Given the description of an element on the screen output the (x, y) to click on. 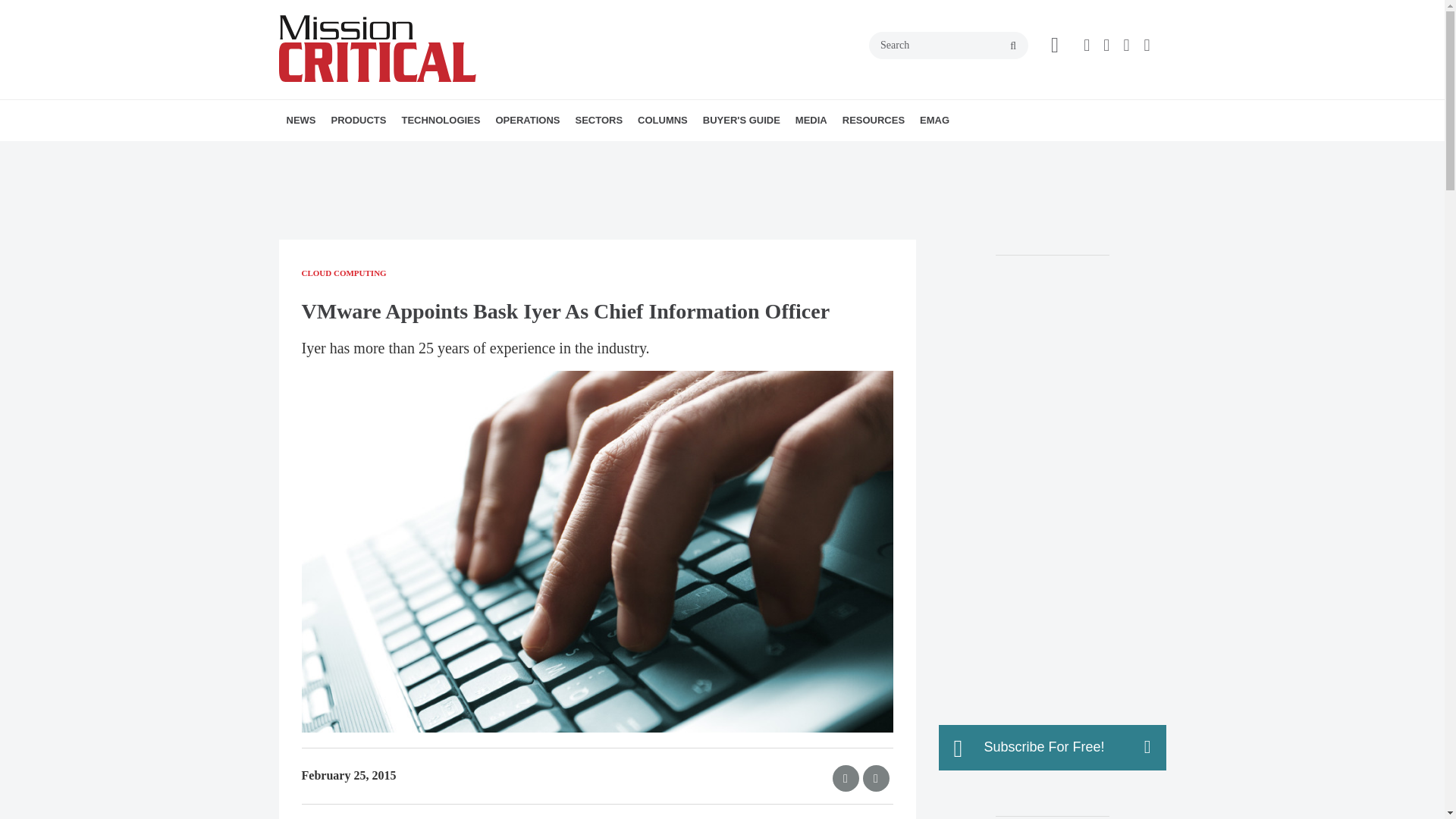
CABLING (525, 153)
NEW PRODUCTS (417, 153)
TECHNOLOGIES (440, 119)
MANAGEMENT (606, 153)
INFRASTRUCTURE (488, 153)
CLOUD COMPUTING (516, 153)
SAFETY (595, 153)
COLOCATION (609, 153)
NEWS (301, 119)
INDUSTRY NEWS (373, 153)
